Given the description of an element on the screen output the (x, y) to click on. 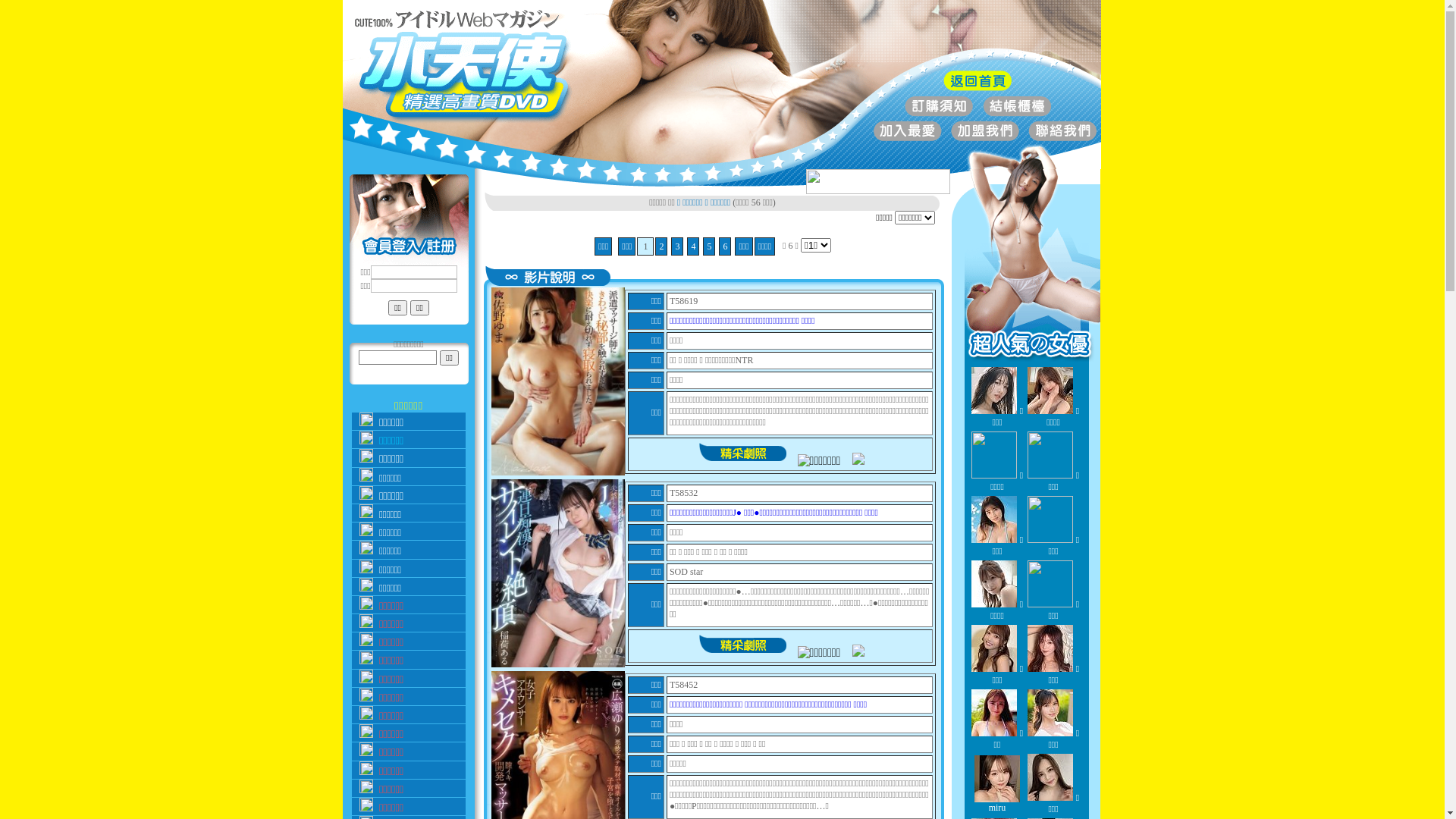
2 Element type: text (661, 246)
3 Element type: text (677, 246)
4 Element type: text (693, 246)
6 Element type: text (724, 246)
5 Element type: text (708, 246)
miru Element type: text (996, 801)
